Given the description of an element on the screen output the (x, y) to click on. 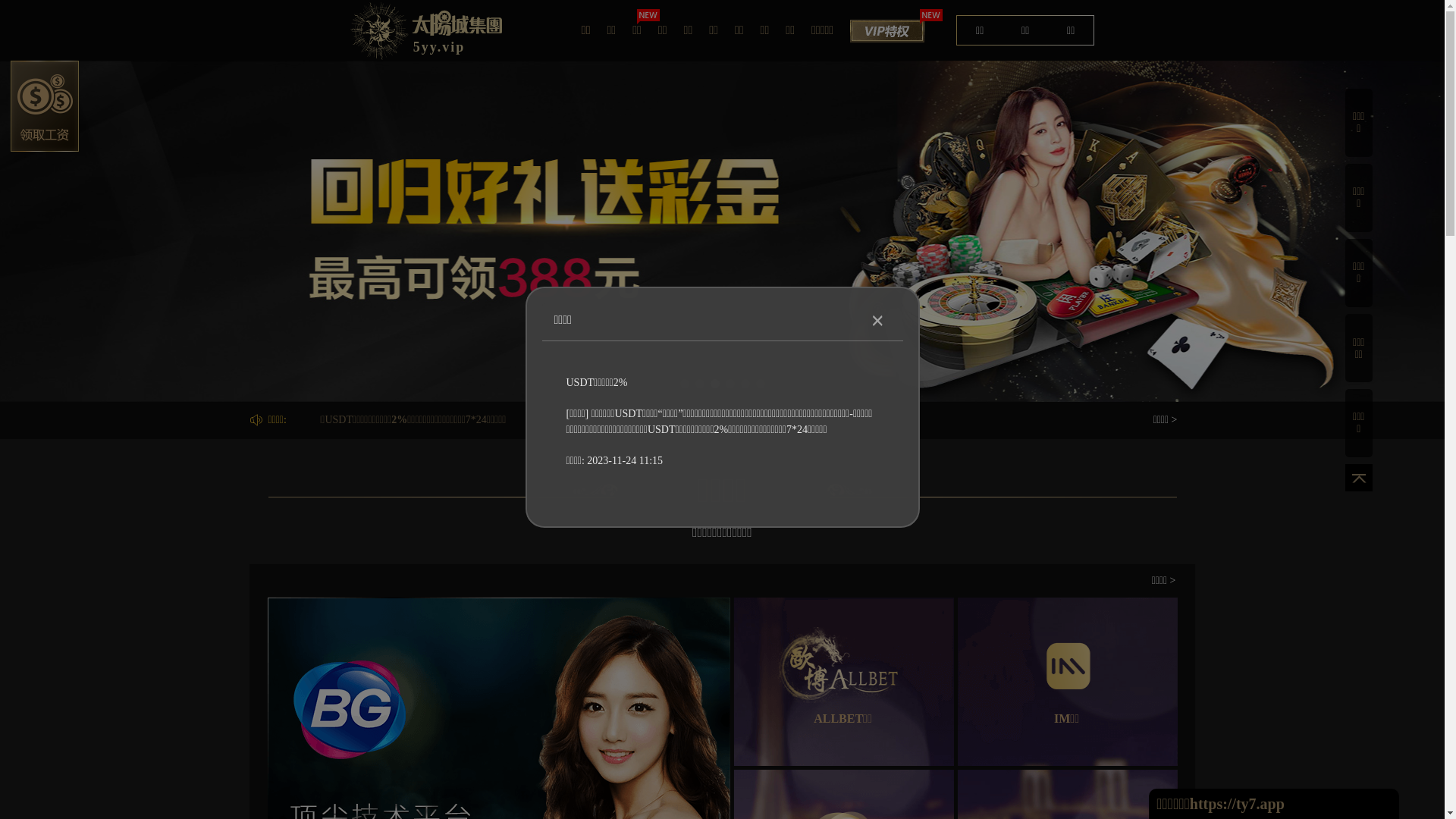
5yy.vip Element type: text (426, 30)
